Given the description of an element on the screen output the (x, y) to click on. 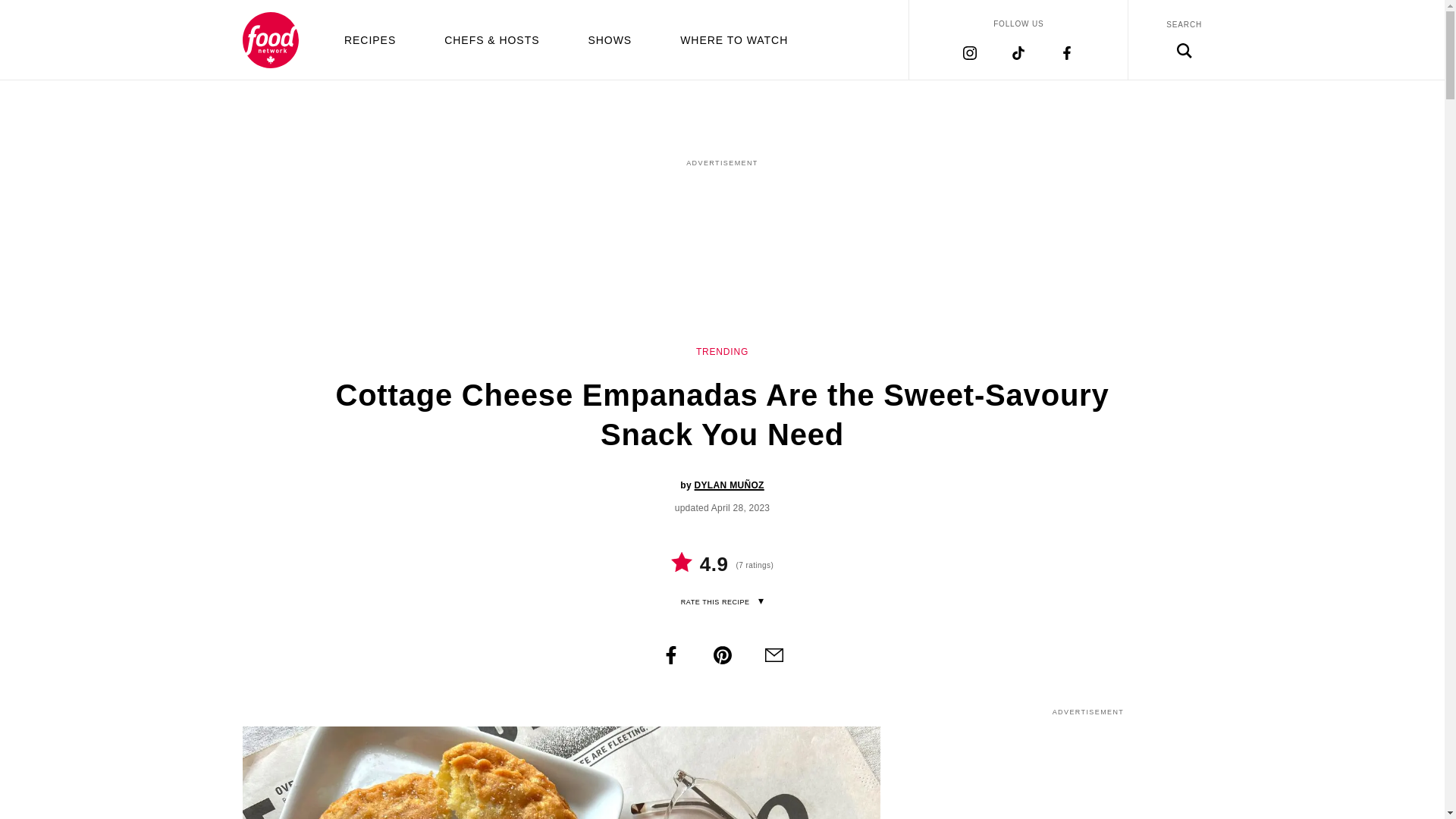
WHERE TO WATCH (733, 39)
Follow Food Network Canada on Tik Tok (1018, 52)
RECIPES (369, 39)
SHOWS (609, 39)
Email (773, 655)
Follow Food Network Canada on Instagram (969, 52)
Facebook (670, 655)
Pinterest (721, 655)
TRENDING (721, 351)
Food Network Canada home (270, 39)
